Given the description of an element on the screen output the (x, y) to click on. 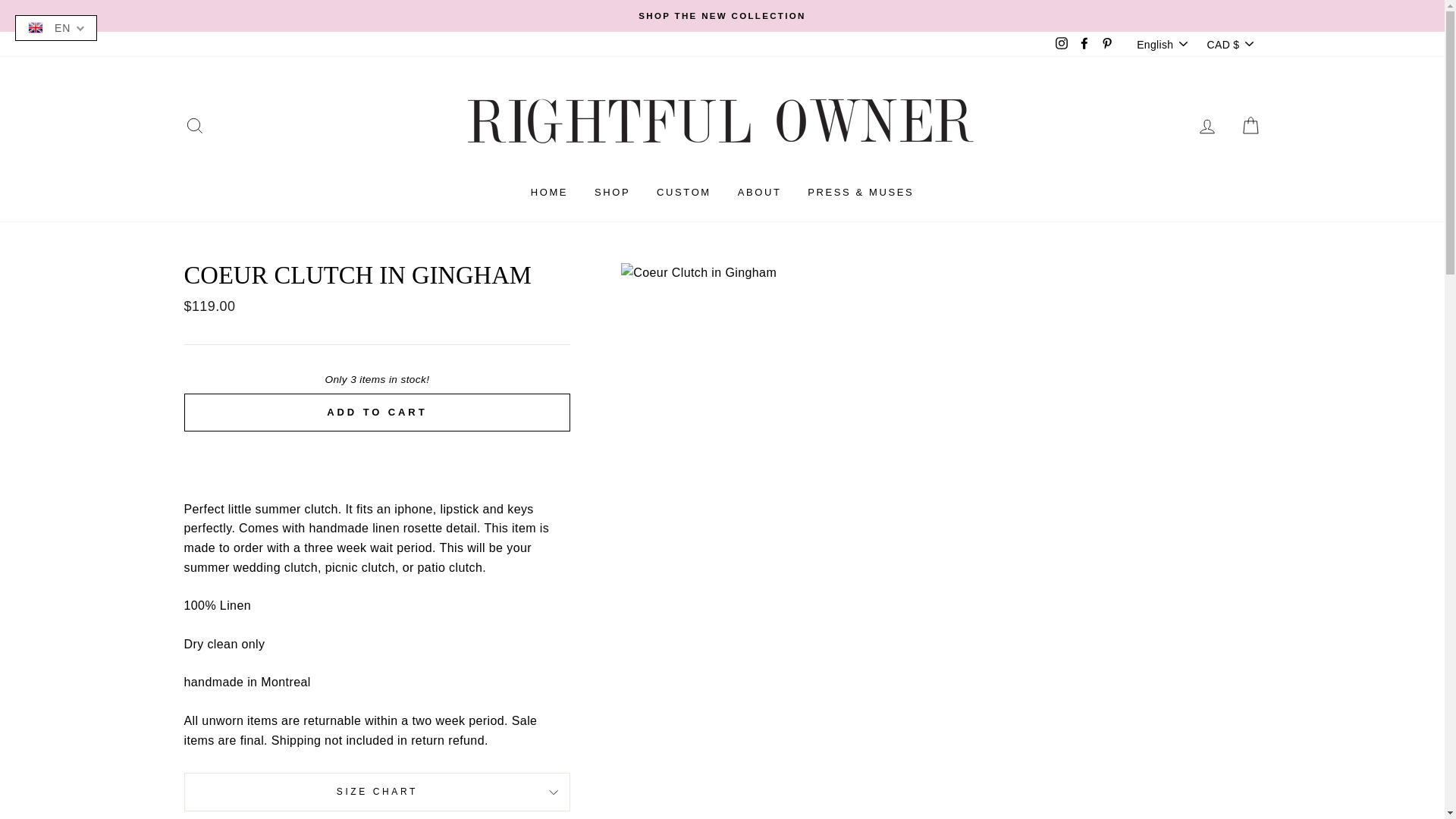
SHOP THE NEW COLLECTION (722, 15)
English (1162, 43)
